Given the description of an element on the screen output the (x, y) to click on. 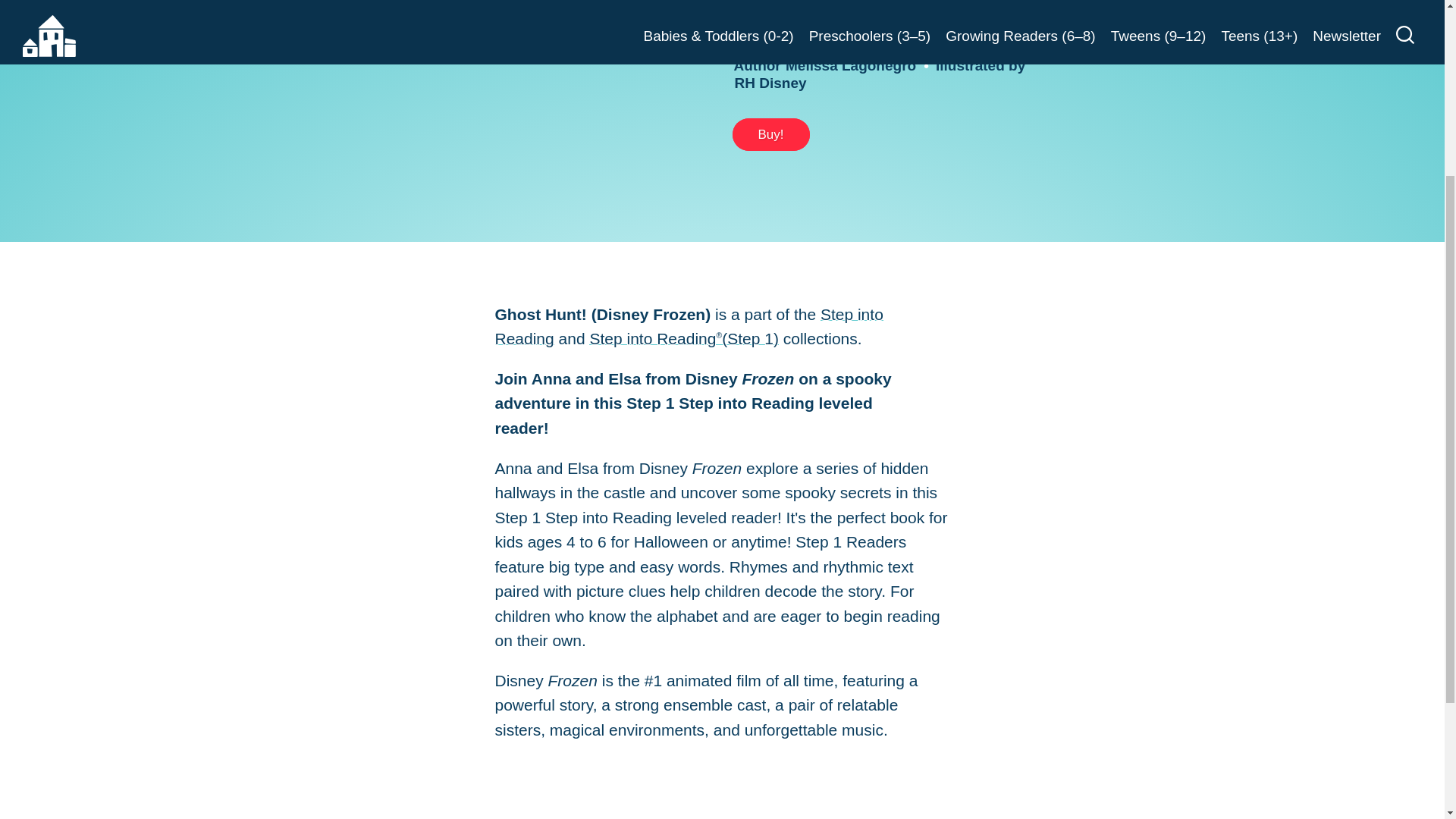
RH Disney (770, 82)
Melissa Lagonegro (850, 65)
Buy! (770, 133)
